Given the description of an element on the screen output the (x, y) to click on. 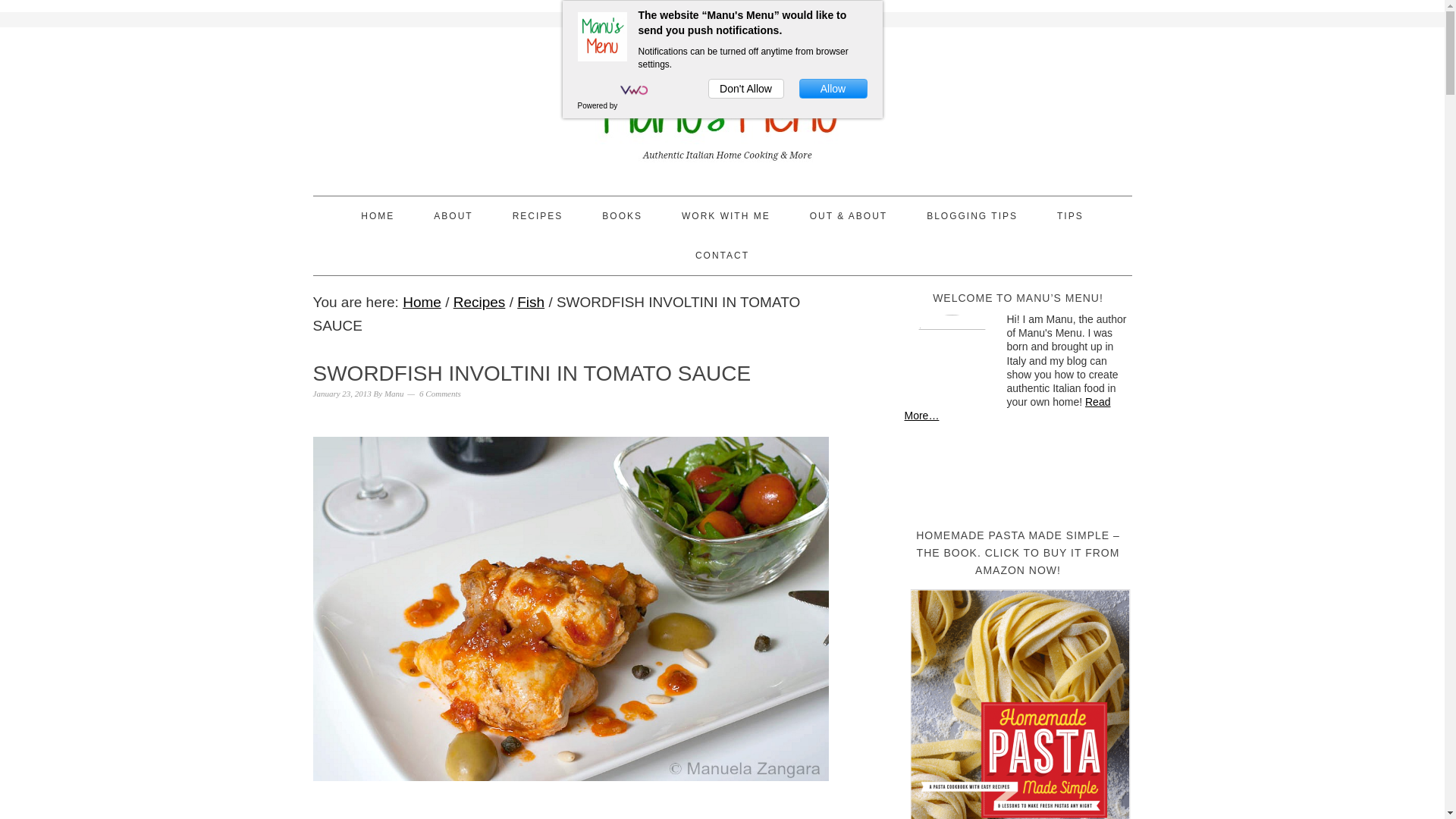
HOME (377, 215)
BLOGGING TIPS (971, 215)
BOOKS (622, 215)
RECIPES (537, 215)
ABOUT (453, 215)
WORK WITH ME (725, 215)
